Given the description of an element on the screen output the (x, y) to click on. 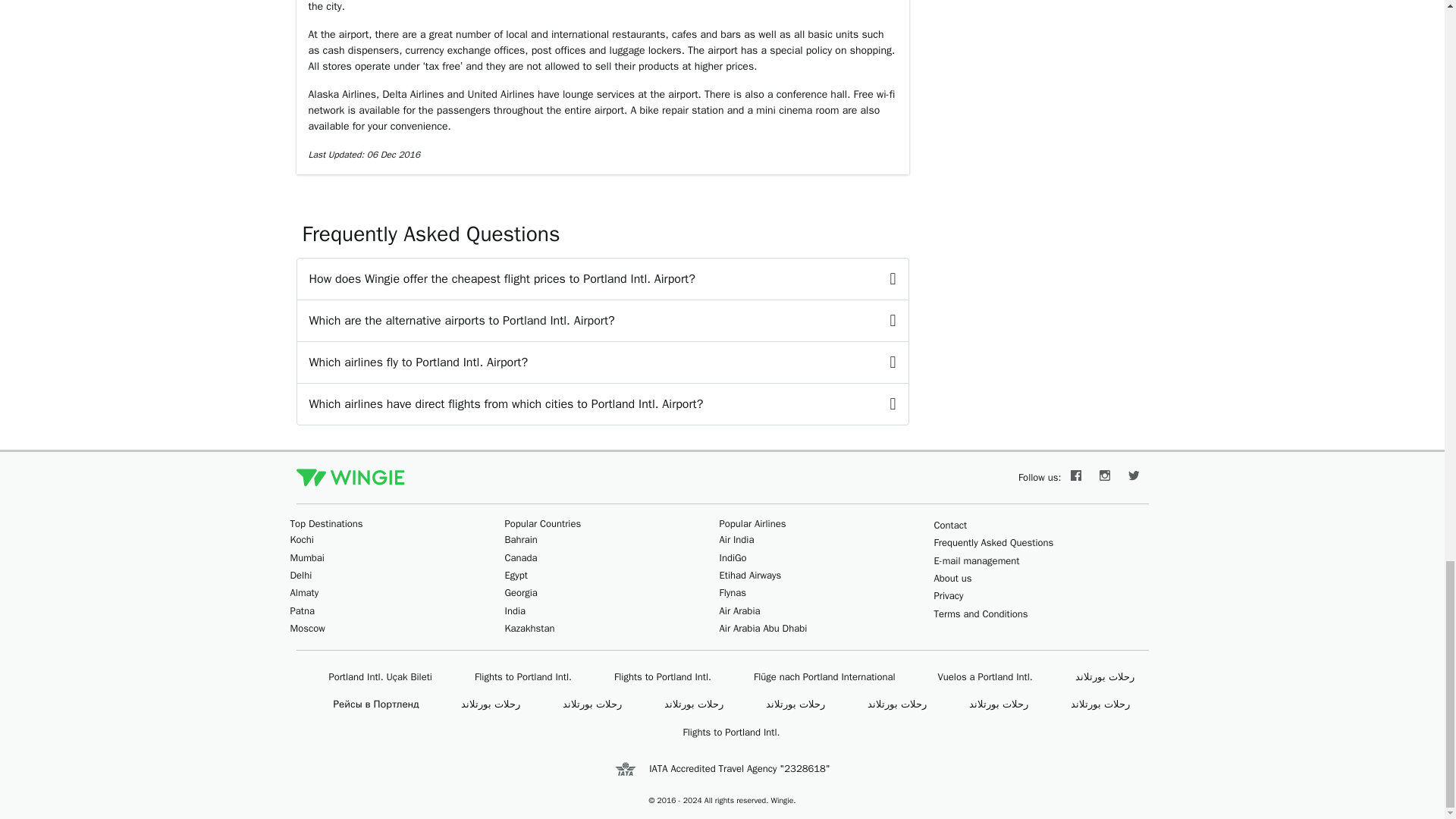
Moscow (306, 627)
Top Destinations (325, 522)
Mumbai (306, 557)
Kazakhstan (529, 627)
India (515, 610)
Twitter (1133, 477)
Instagram (1104, 477)
Canada (521, 557)
Patna (301, 610)
Georgia (521, 592)
Bahrain (521, 539)
Delhi (300, 574)
Kochi (301, 539)
Popular Airlines (752, 522)
Egypt (516, 574)
